Given the description of an element on the screen output the (x, y) to click on. 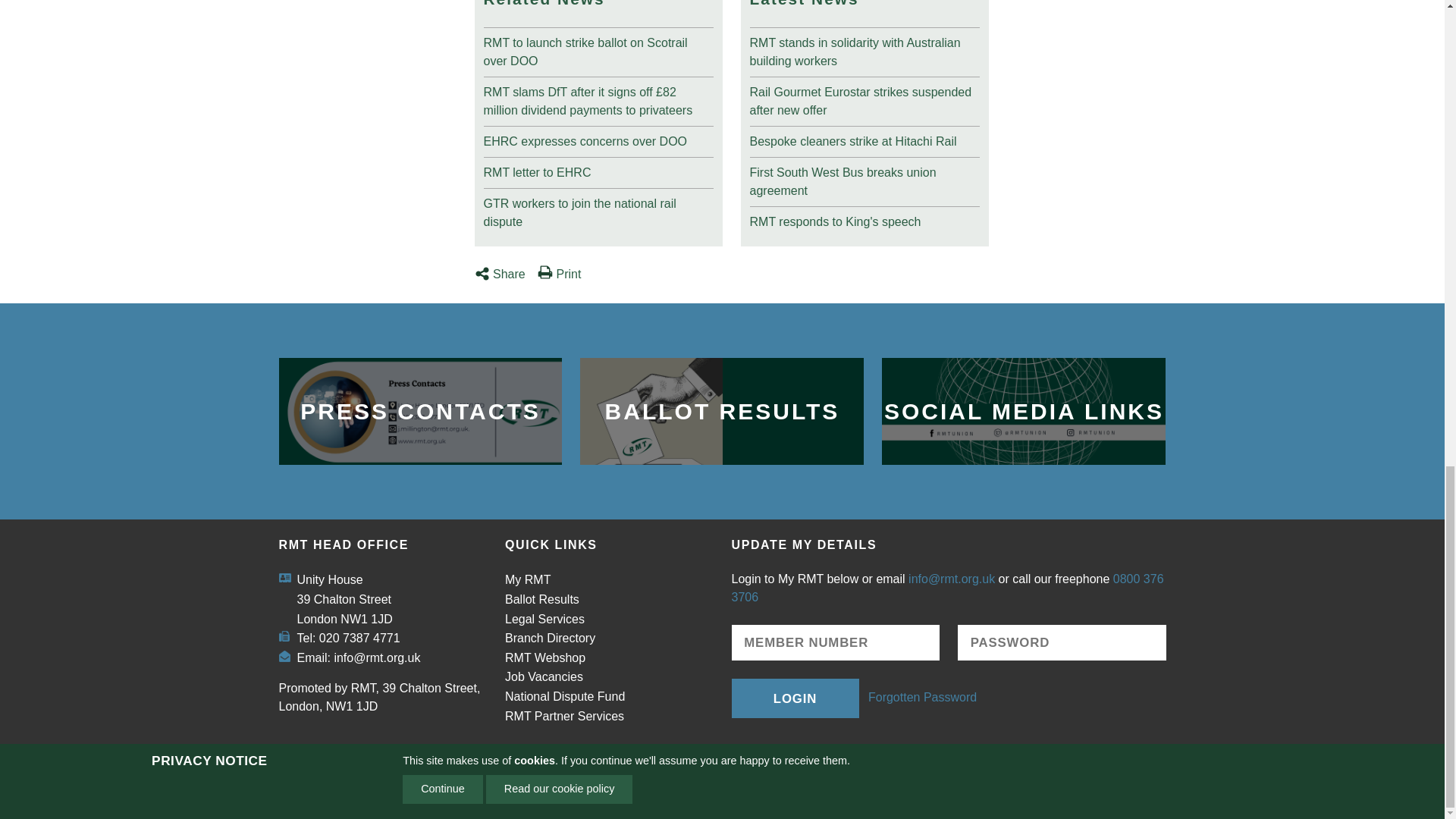
news (598, 138)
news (598, 97)
news (863, 48)
RMT to launch strike ballot on Scotrail over DOO (598, 48)
EHRC expresses concerns over DOO (598, 138)
news (598, 48)
news (598, 209)
news (598, 169)
